Given the description of an element on the screen output the (x, y) to click on. 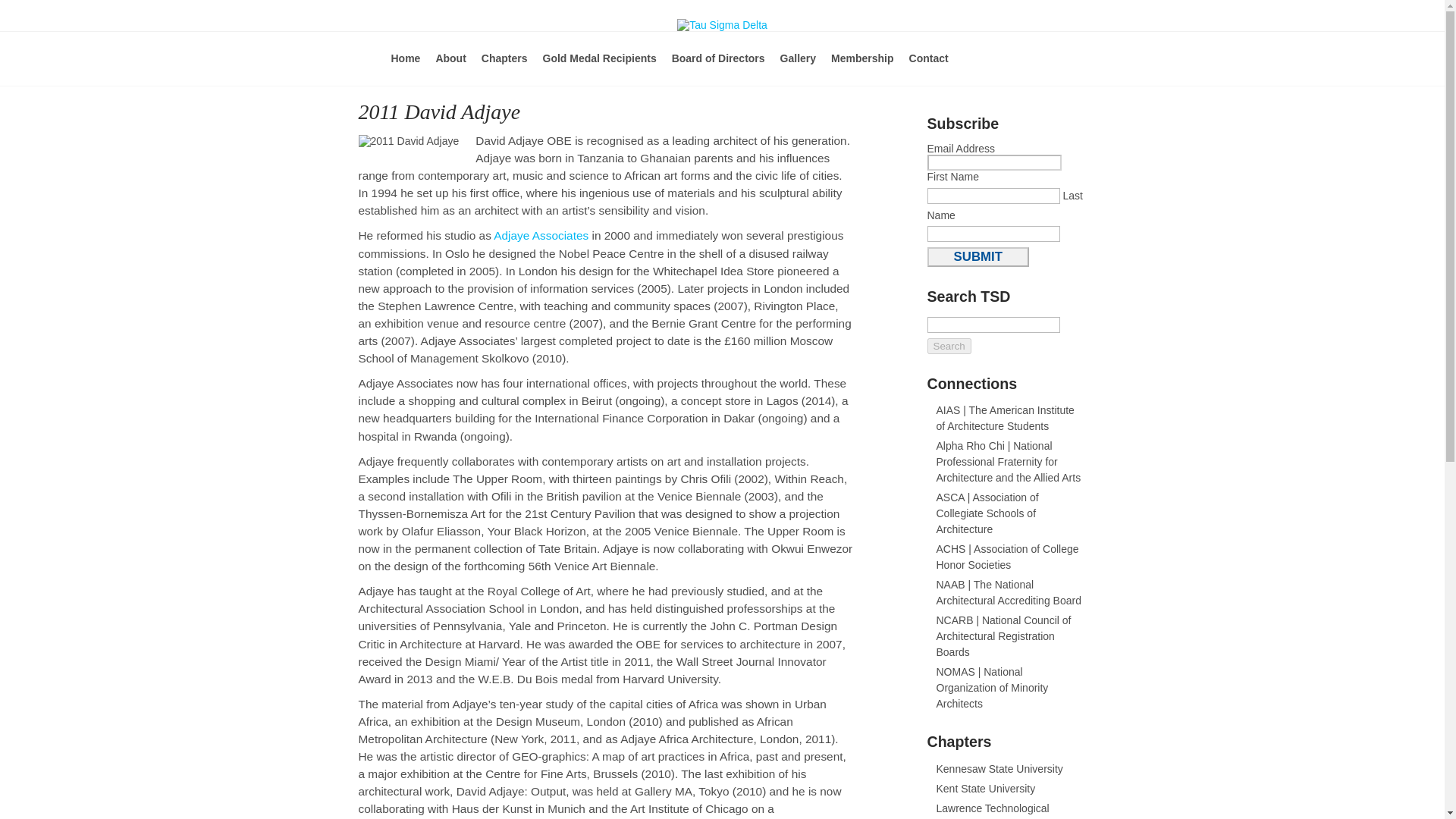
Search (948, 345)
Membership (862, 67)
Board of Directors (718, 67)
Kennesaw State University (999, 768)
Gallery (798, 67)
Gold Medal Recipients (599, 67)
Search (948, 345)
About (450, 67)
Home (406, 67)
Kent State University (985, 788)
